Given the description of an element on the screen output the (x, y) to click on. 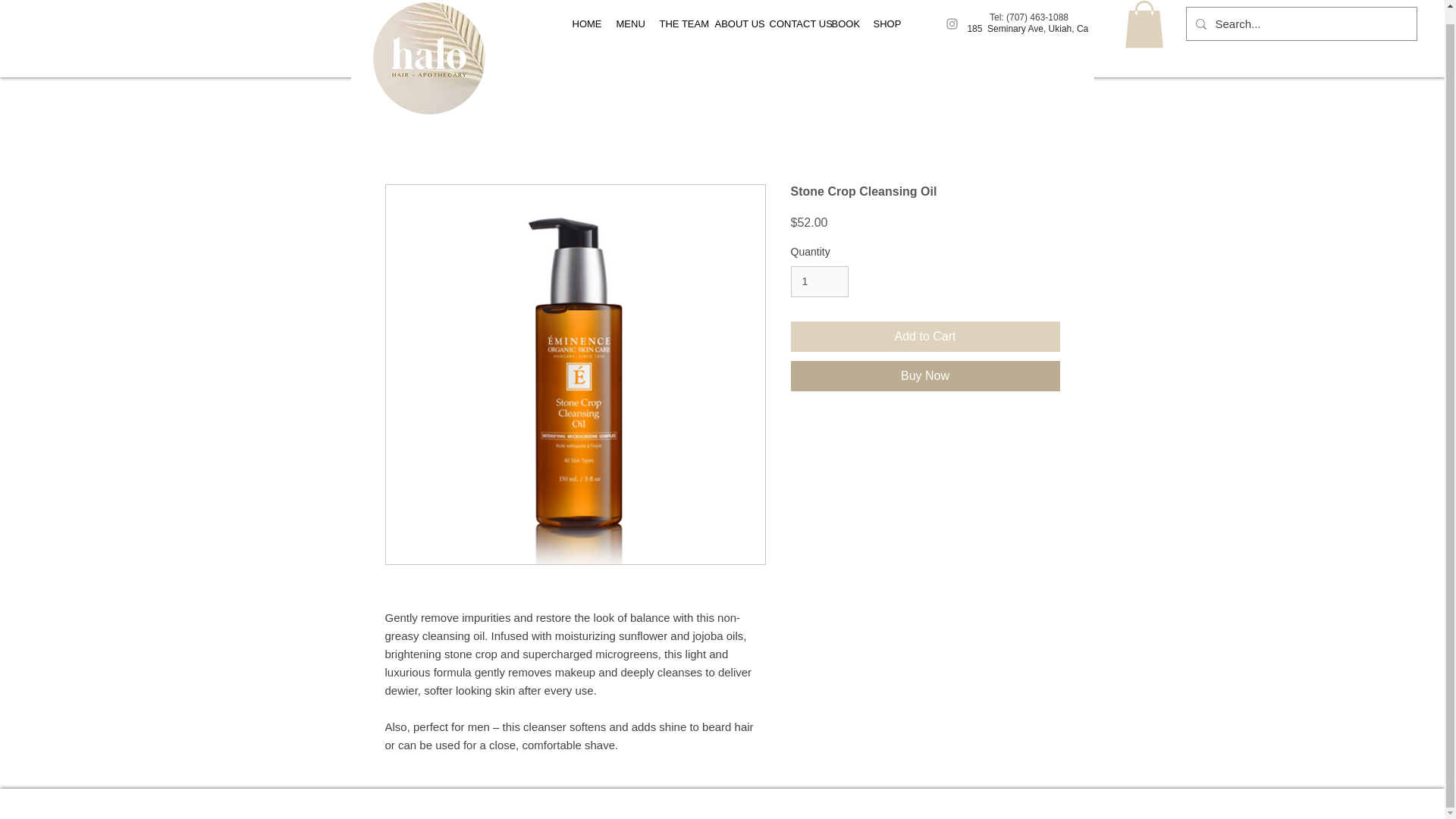
Add to Cart (924, 336)
Buy Now (924, 376)
1 (818, 281)
THE TEAM (675, 23)
MENU (626, 23)
CONTACT US (789, 23)
BOOK (841, 23)
ABOUT US (730, 23)
HOME (582, 23)
